Given the description of an element on the screen output the (x, y) to click on. 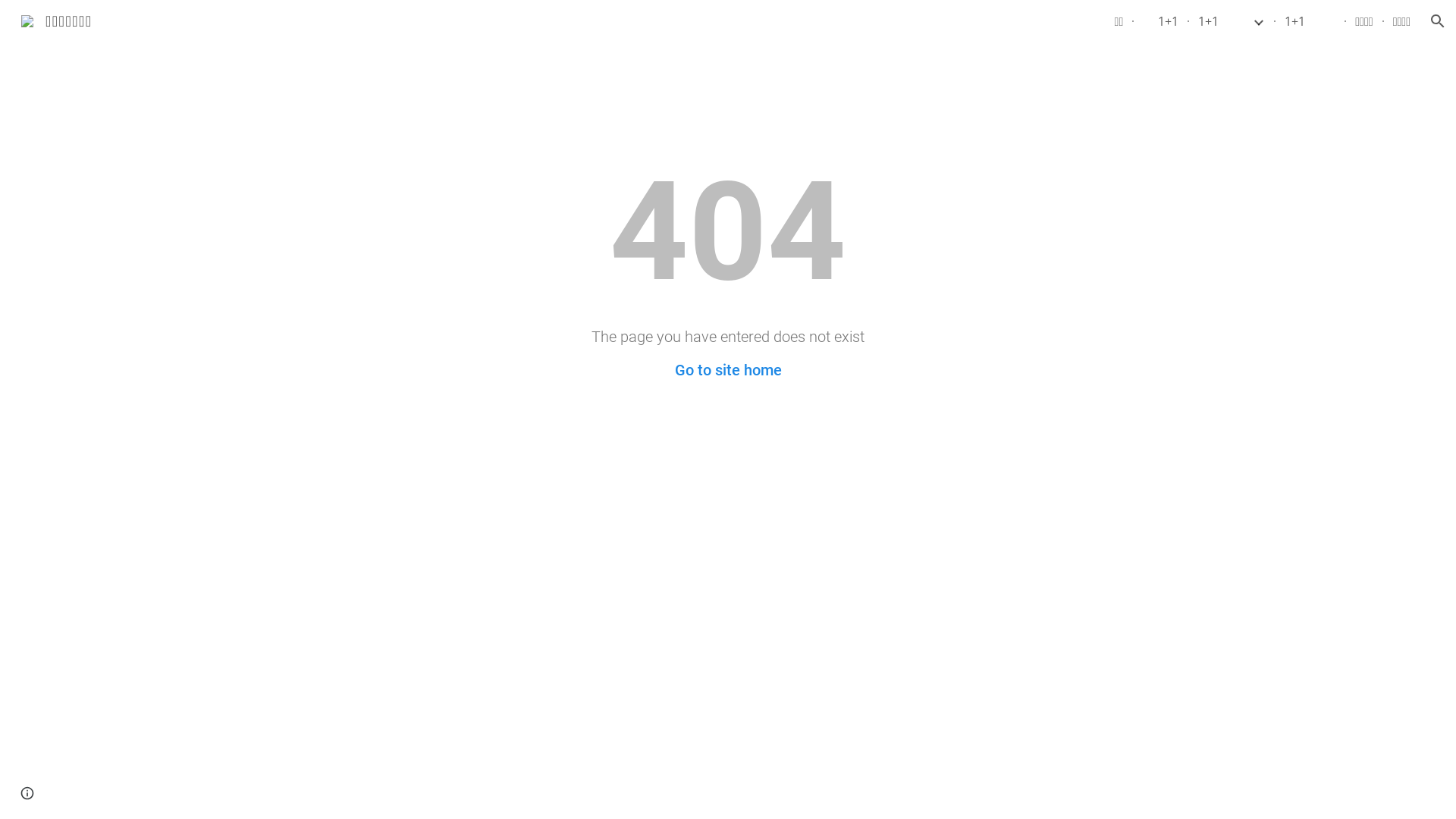
Go to site home Element type: text (727, 369)
Expand/Collapse Element type: hover (1257, 20)
